Given the description of an element on the screen output the (x, y) to click on. 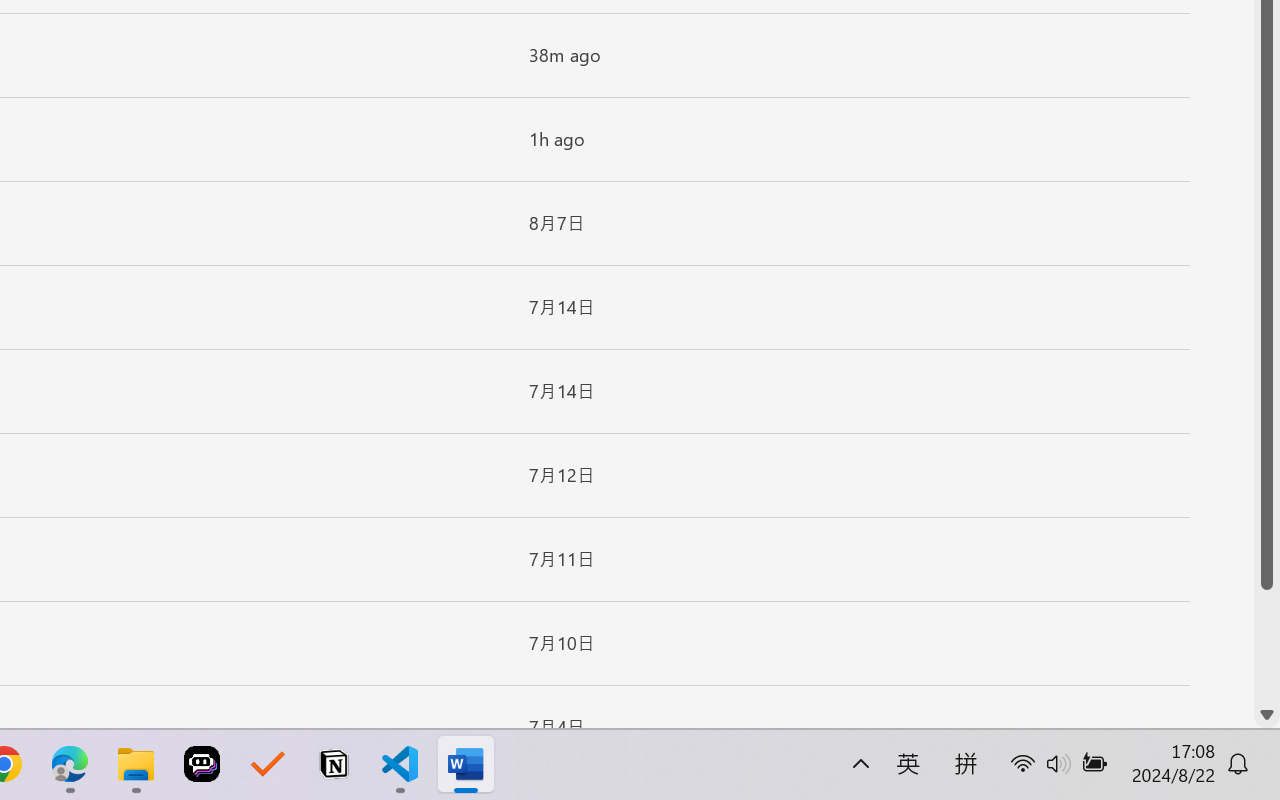
Page down (1267, 646)
Pin this item to the list (480, 727)
Line down (1267, 715)
